Given the description of an element on the screen output the (x, y) to click on. 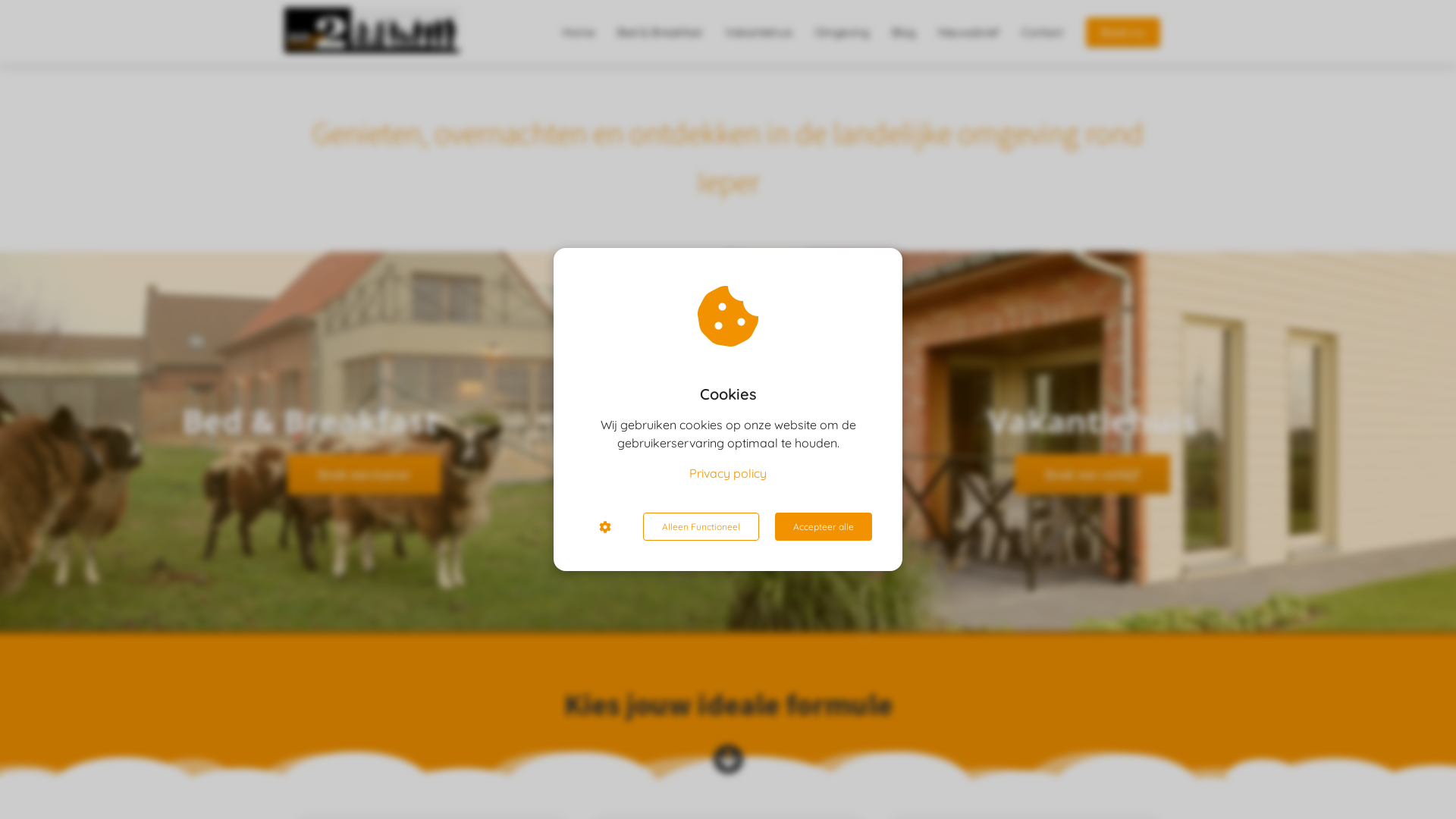
Terrace view Element type: hover (364, 440)
Nieuwsbrief Element type: text (968, 31)
Boek een kamer Element type: text (363, 476)
Omgeving Element type: text (841, 31)
Privacy policy Element type: text (727, 473)
Home Element type: text (578, 31)
Boek nu Element type: text (1122, 31)
Contact Element type: text (1042, 31)
Blog Element type: text (903, 31)
Bed & Breakfast Element type: text (659, 31)
Boek een verblijf Element type: text (1092, 476)
Vakantiehuis Element type: text (758, 31)
